Given the description of an element on the screen output the (x, y) to click on. 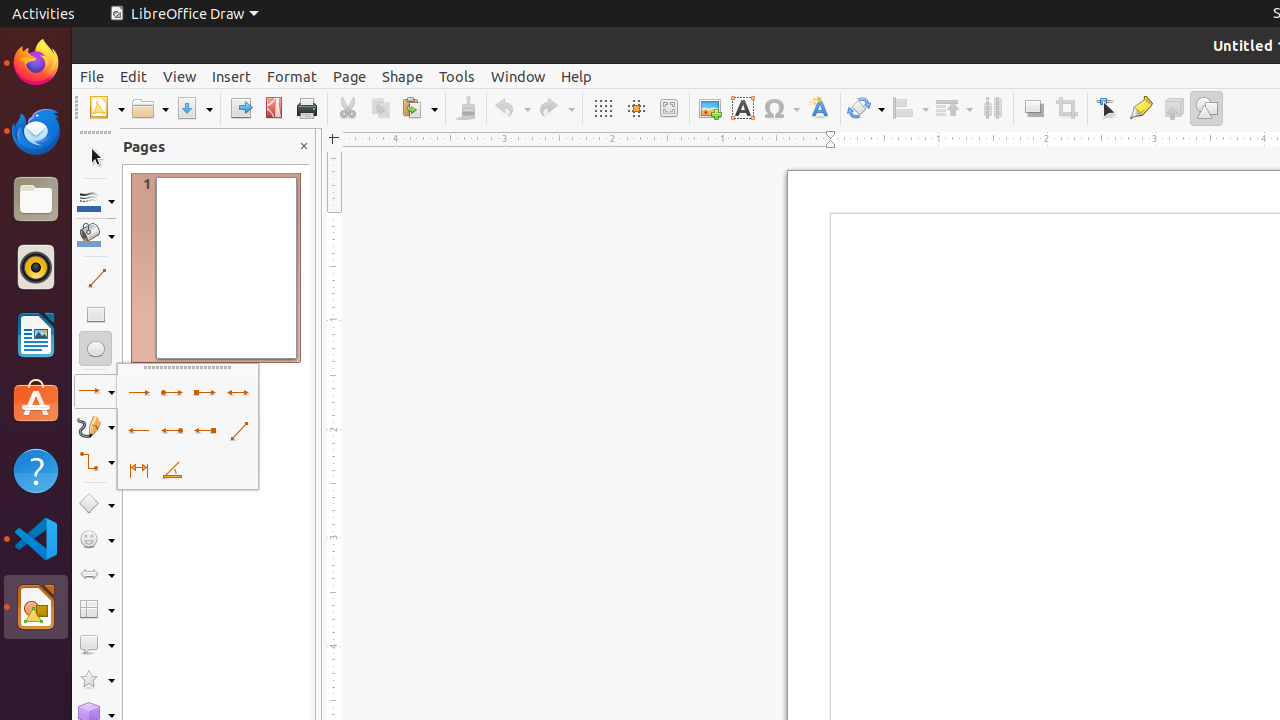
Edit Element type: menu (133, 76)
File Element type: menu (92, 76)
Distribution Element type: push-button (992, 108)
Shadow Element type: toggle-button (1033, 108)
Select Element type: push-button (95, 157)
